Given the description of an element on the screen output the (x, y) to click on. 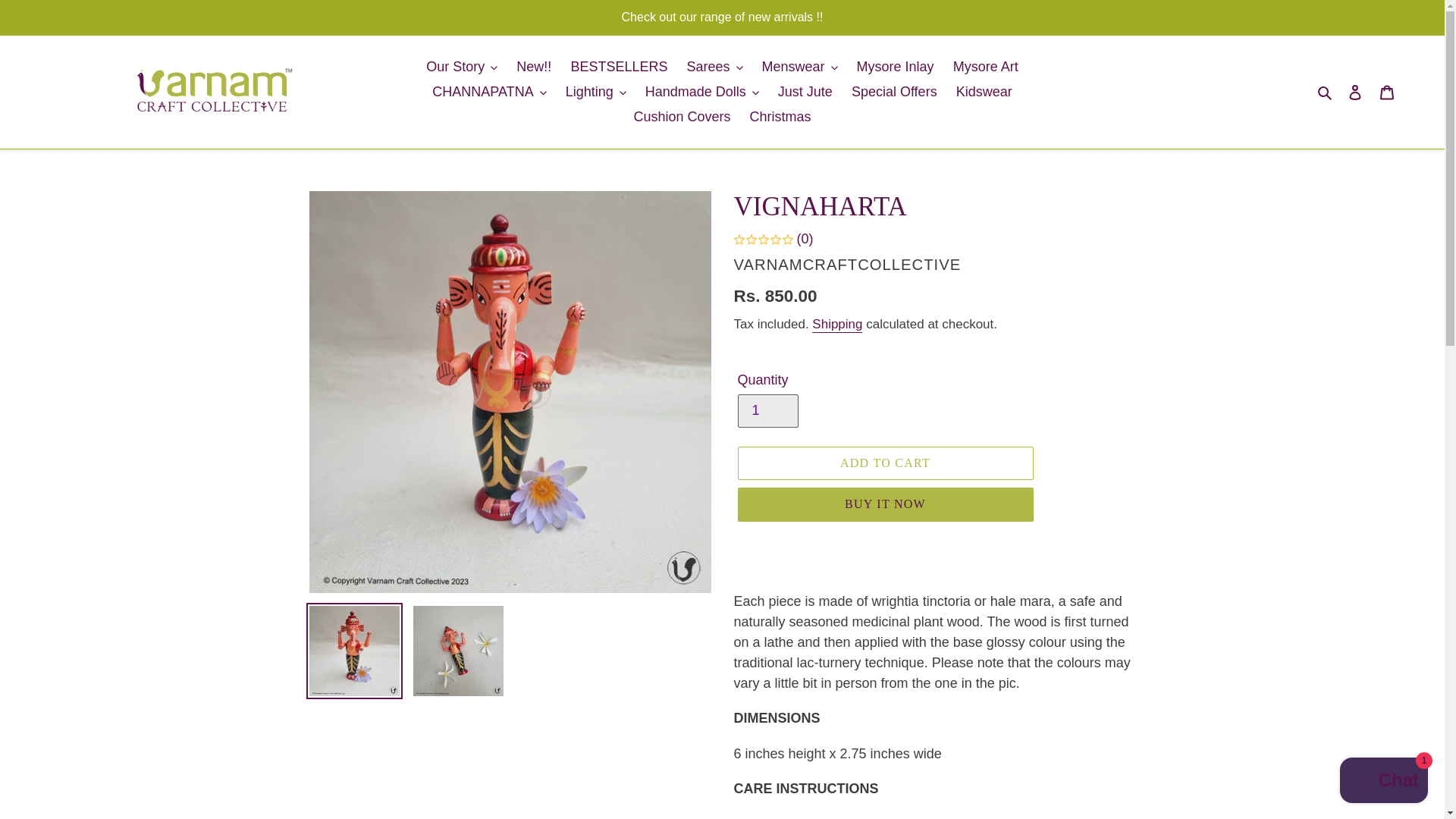
BESTSELLERS (618, 66)
1 (766, 410)
CHANNAPATNA (489, 91)
Shopify online store chat (1383, 781)
Our Story (462, 66)
New!! (533, 66)
Sarees (713, 66)
Menswear (799, 66)
Mysore Art (985, 66)
Mysore Inlay (895, 66)
